Given the description of an element on the screen output the (x, y) to click on. 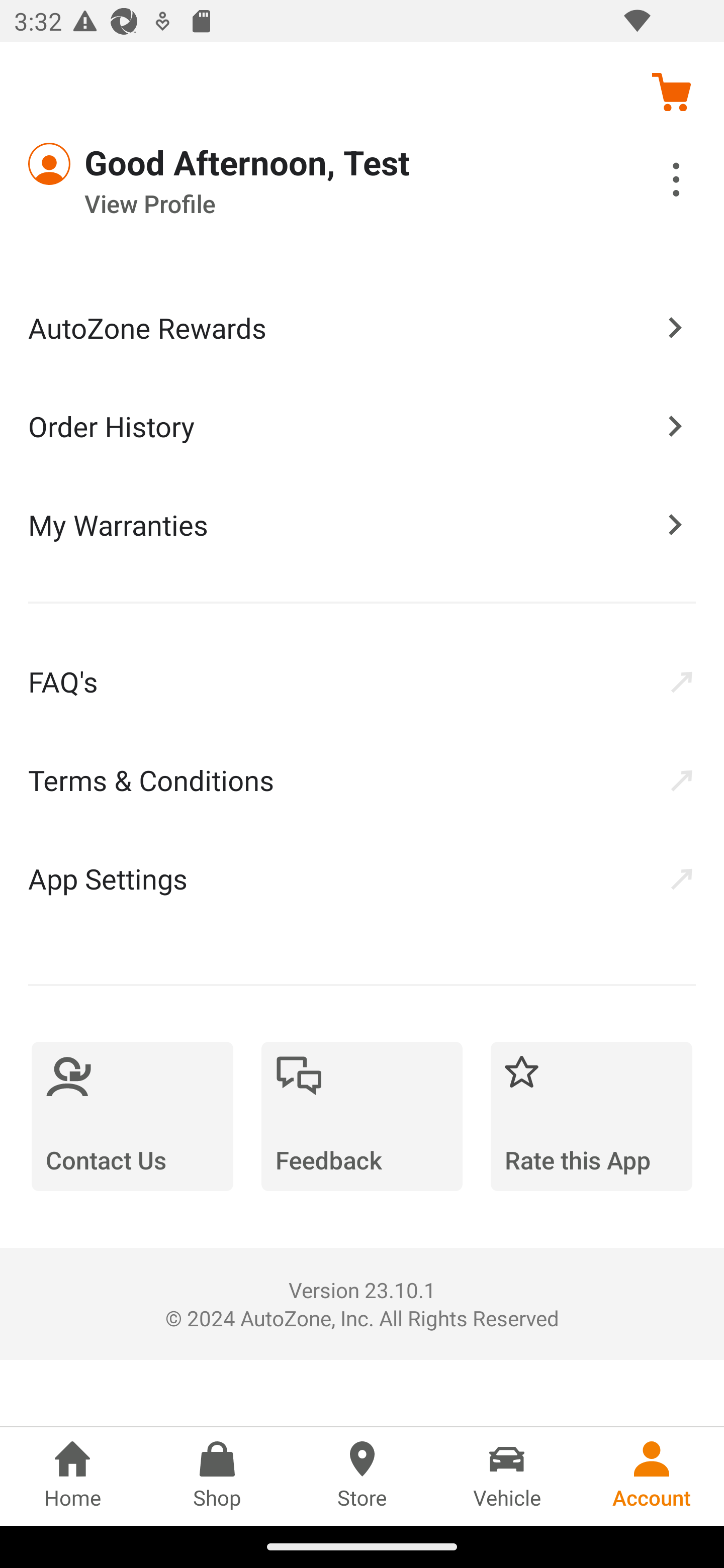
Cart, no items  (670, 91)
Good  (100, 163)
︙ (654, 182)
View Profile (306, 203)
AutoZone Rewards  (361, 327)
Order History  (361, 425)
My Warranties  (361, 524)
FAQ's  (361, 680)
Terms & Conditions  (361, 779)
App Settings  (361, 878)
Contact Us (132, 1116)
Feedback (361, 1116)
Rate this App (591, 1116)
Home (72, 1475)
Shop (216, 1475)
Store (361, 1475)
Vehicle (506, 1475)
Account (651, 1475)
